Given the description of an element on the screen output the (x, y) to click on. 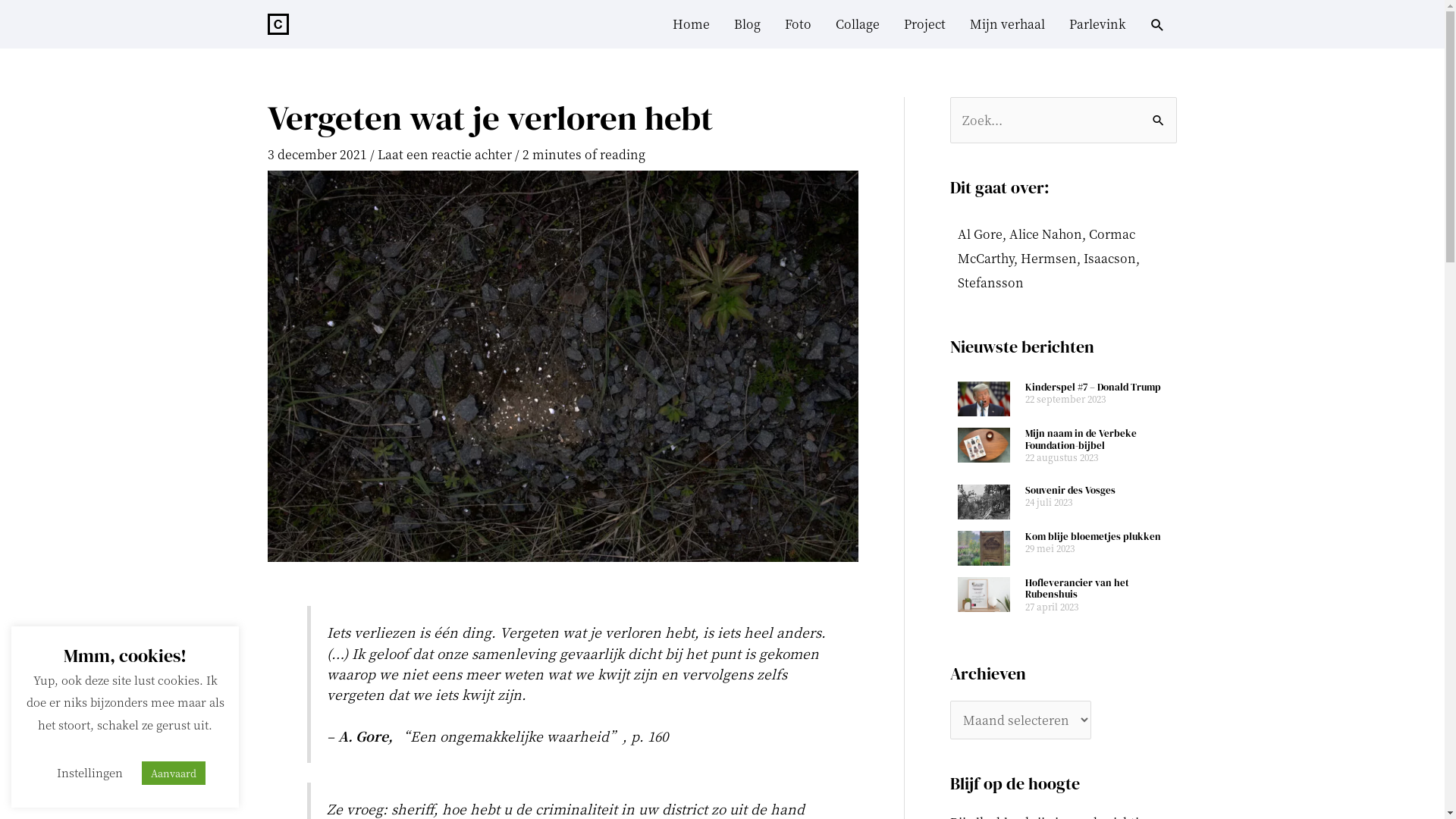
Mijn verhaal Element type: text (1006, 24)
Mijn naam in de Verbeke Foundation-bijbel Element type: text (1080, 438)
Souvenir des Vosges Element type: text (1070, 489)
Stefansson Element type: text (989, 282)
Alice Nahon Element type: text (1044, 233)
Laat een reactie achter Element type: text (444, 154)
Al Gore Element type: text (979, 233)
Hermsen Element type: text (1048, 257)
Project Element type: text (924, 24)
Home Element type: text (690, 24)
Cormac McCarthy Element type: text (1045, 245)
Foto Element type: text (796, 24)
Collage Element type: text (857, 24)
Kom blije bloemetjes plukken Element type: text (1093, 536)
Isaacson Element type: text (1108, 257)
Blog Element type: text (746, 24)
Aanvaard Element type: text (172, 772)
Instellingen Element type: text (89, 772)
Parlevink Element type: text (1097, 24)
Zoeken Element type: text (1159, 112)
Hofleverancier van het Rubenshuis Element type: text (1077, 588)
